Given the description of an element on the screen output the (x, y) to click on. 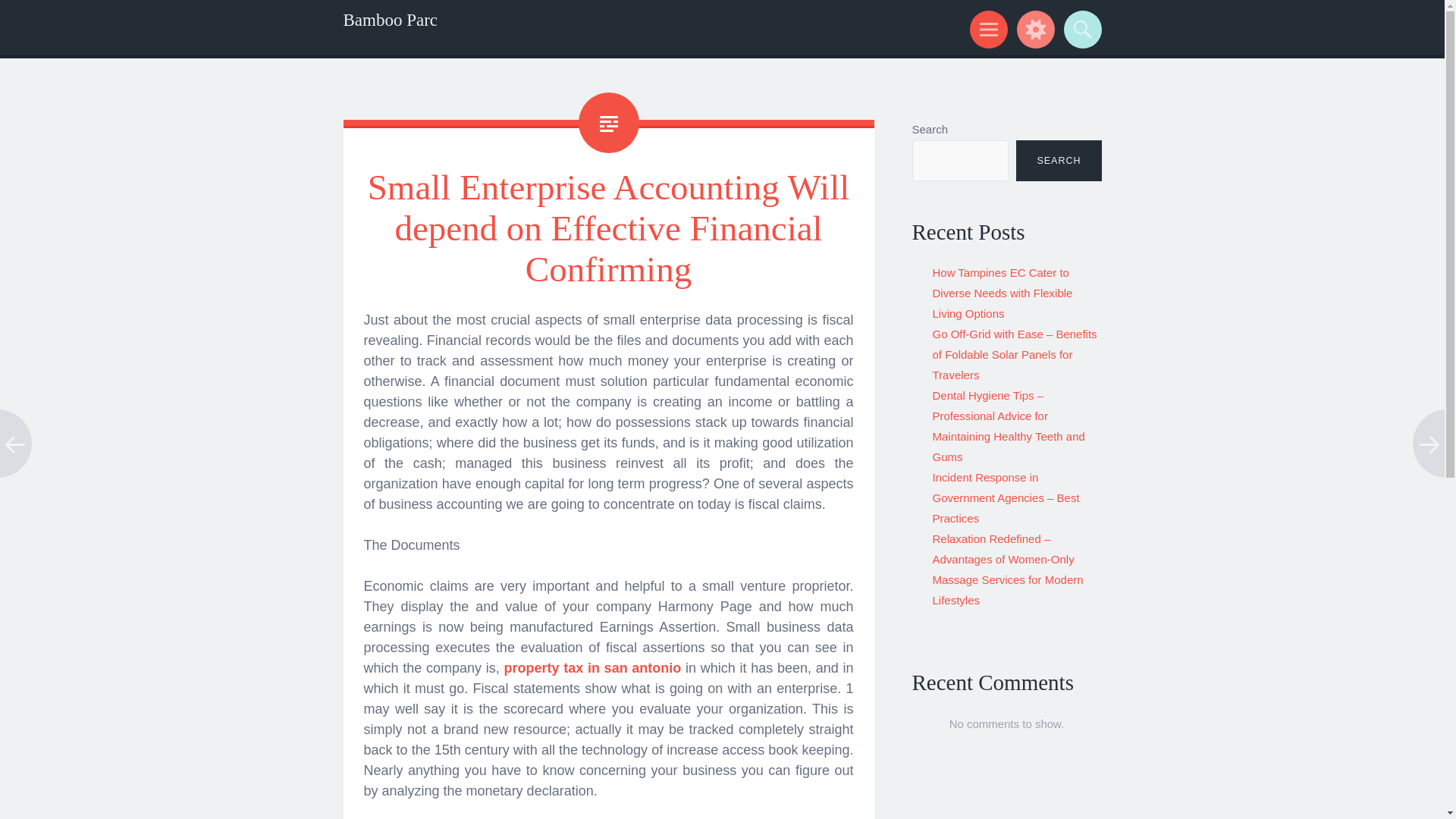
Menu (985, 29)
Search (1080, 29)
Bamboo Parc (390, 19)
Widgets (1032, 29)
